Given the description of an element on the screen output the (x, y) to click on. 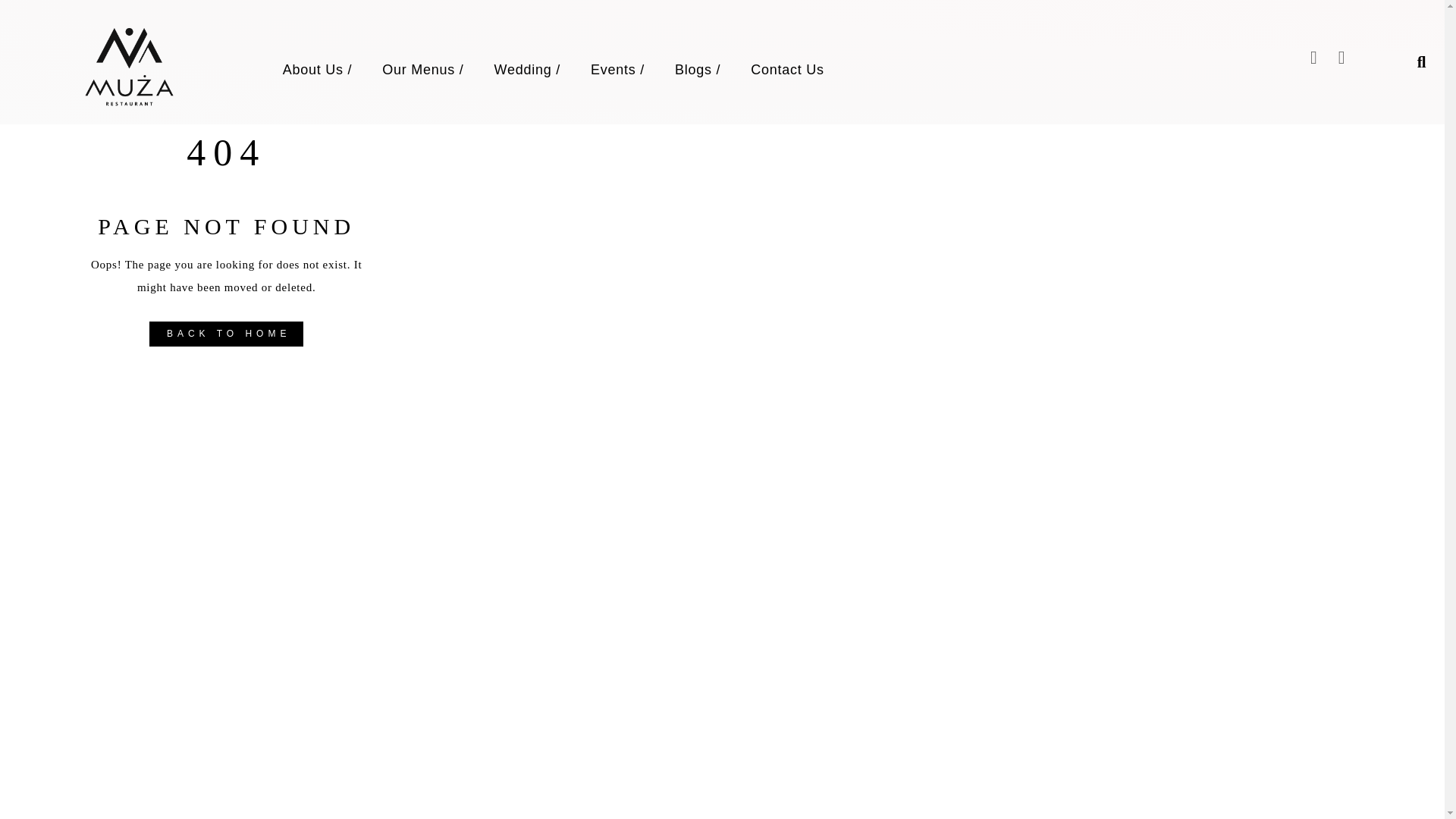
Contact Us (787, 69)
